Given the description of an element on the screen output the (x, y) to click on. 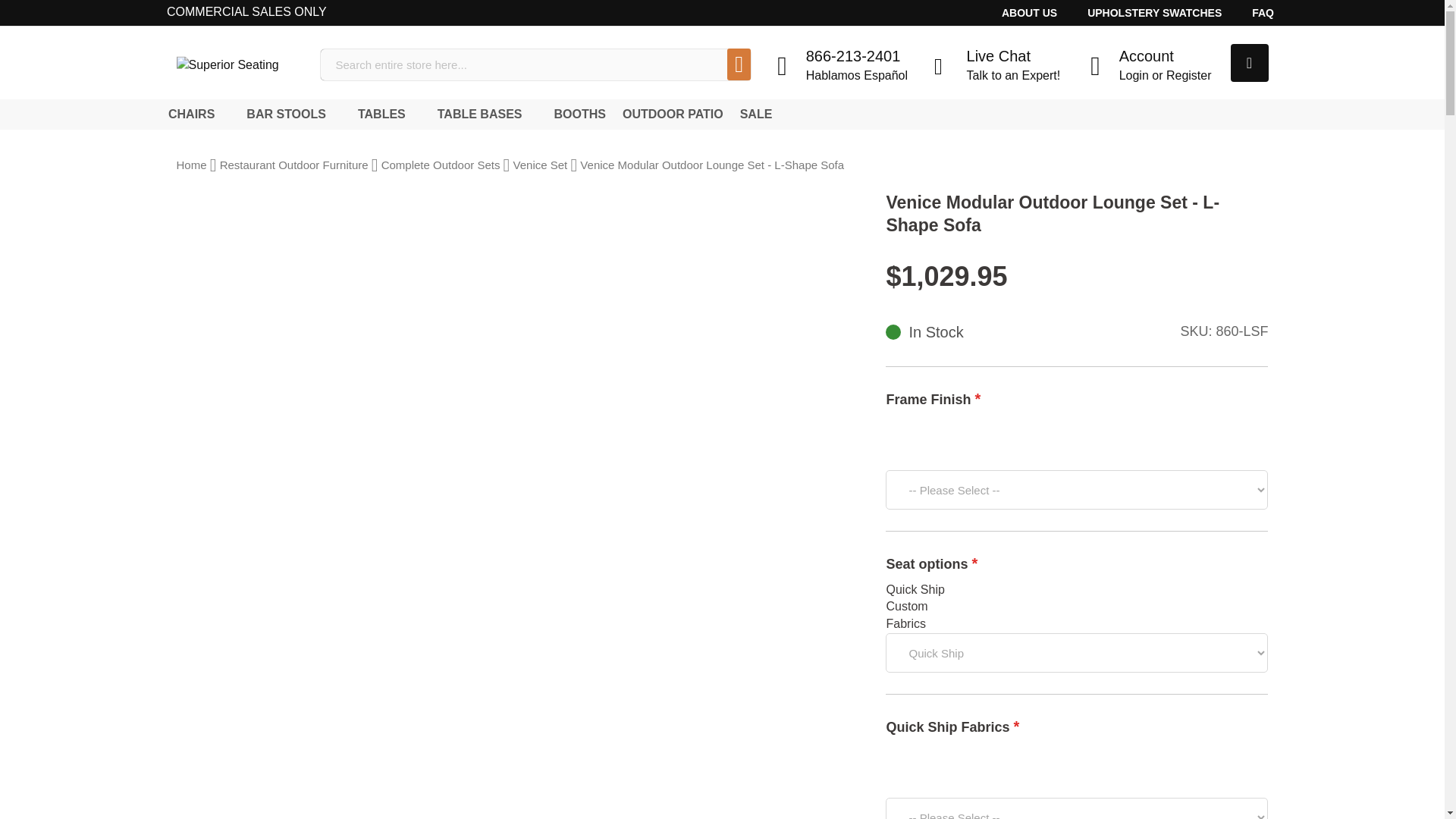
TABLE BASES (482, 114)
Superior Seating (240, 64)
Complete Outdoor Sets (440, 164)
FAQ (1262, 12)
ABOUT US (1029, 12)
My Quote (1249, 62)
Superior Seating (1148, 64)
Table Bases (240, 64)
BAR STOOLS (482, 114)
SALE (288, 114)
Restaurant Outdoor Furniture (751, 114)
Venice Set (293, 164)
UPHOLSTERY SWATCHES (540, 164)
TABLES (1153, 12)
